Given the description of an element on the screen output the (x, y) to click on. 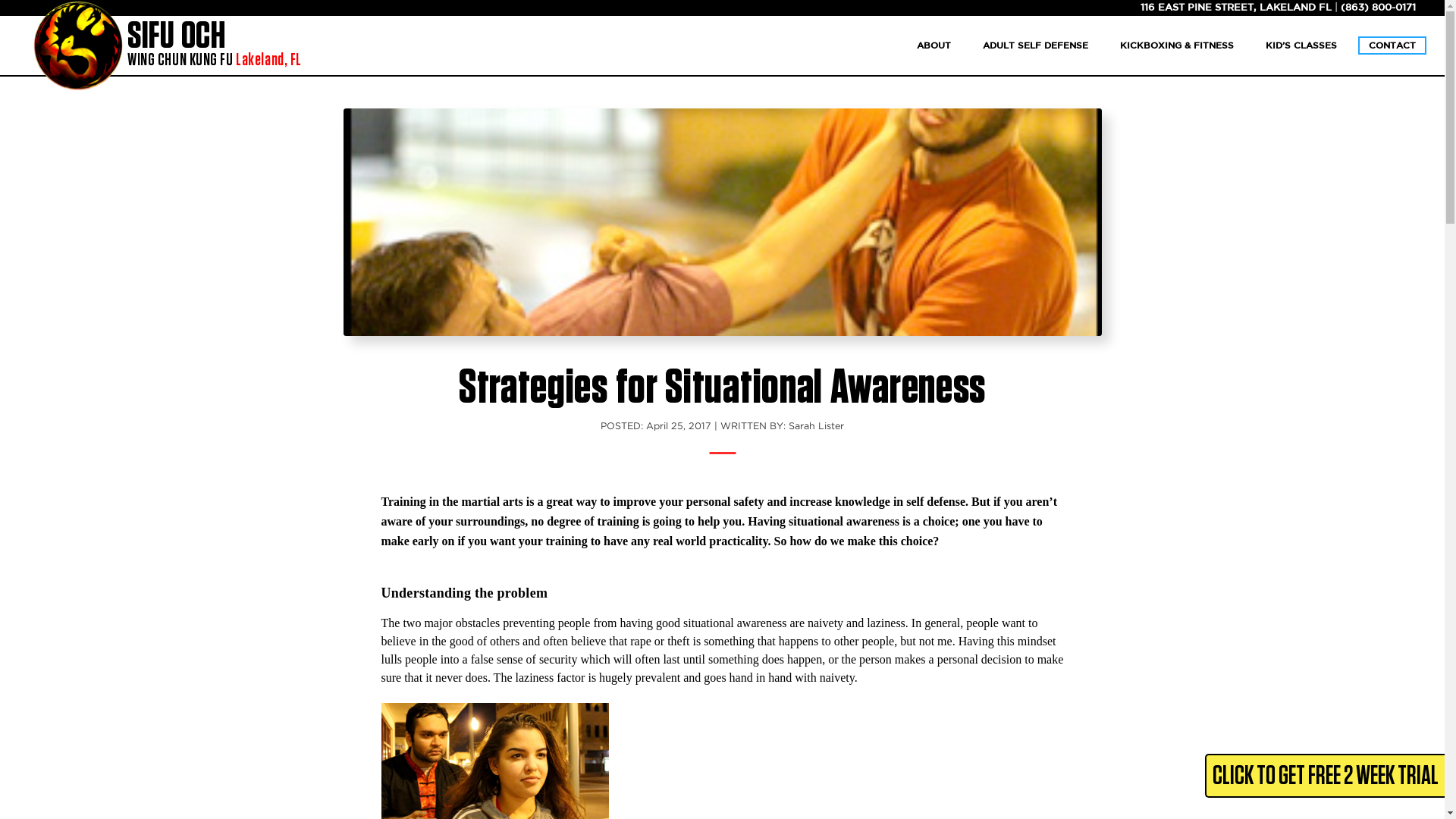
ADULT SELF DEFENSE (1034, 45)
HISTORY OF WING CHUN (214, 45)
HOLIDAY DAY CAMPS (976, 28)
PRIVATE LESSONS (1324, 55)
ABOUT (1042, 55)
YOGA CLASSES (933, 45)
SUMMER CAMPS (976, 7)
SELF DEFENSE CLASSES (1324, 28)
OUR ARTICLES (1042, 28)
